Given the description of an element on the screen output the (x, y) to click on. 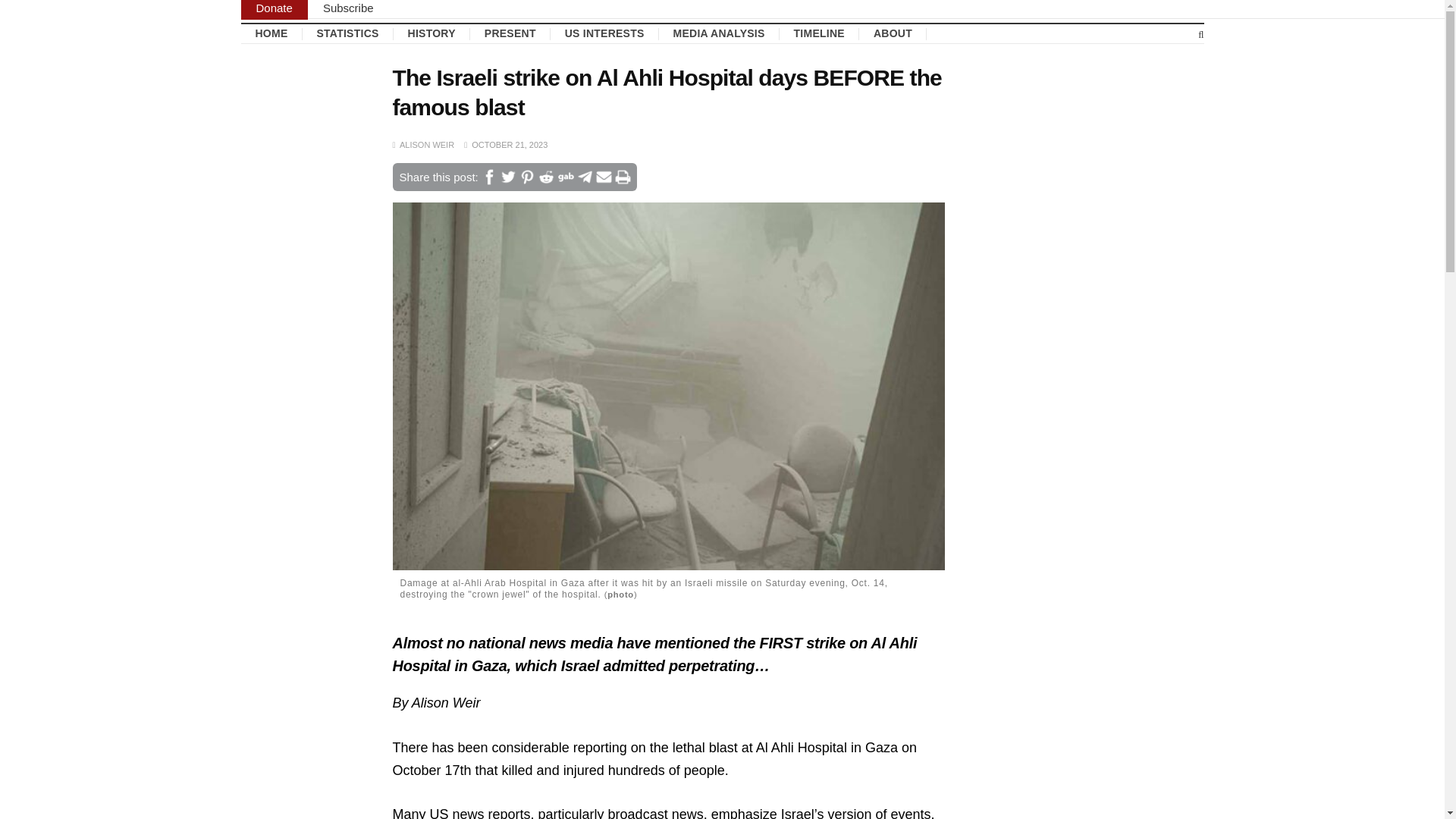
HISTORY (431, 33)
Saturday, October 21, 2023, 11:44 am (509, 143)
MEDIA ANALYSIS (718, 33)
TIMELINE (819, 33)
HOME (272, 33)
PRESENT (510, 33)
Donate (274, 9)
STATISTICS (346, 33)
ALISON WEIR (426, 143)
ABOUT (892, 33)
